Given the description of an element on the screen output the (x, y) to click on. 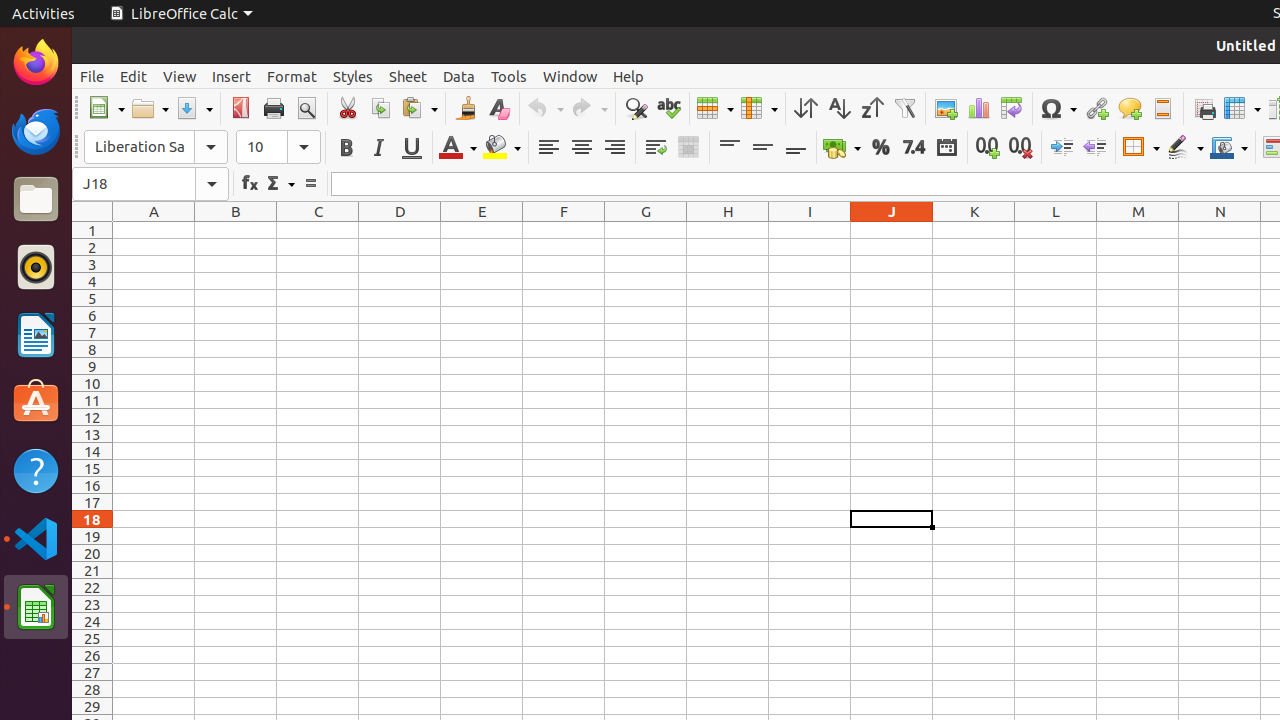
Merge and Center Cells Element type: push-button (688, 147)
Name Box Element type: text (133, 184)
Open Element type: push-button (150, 108)
L1 Element type: table-cell (1056, 230)
Font Name Element type: combo-box (156, 147)
